Given the description of an element on the screen output the (x, y) to click on. 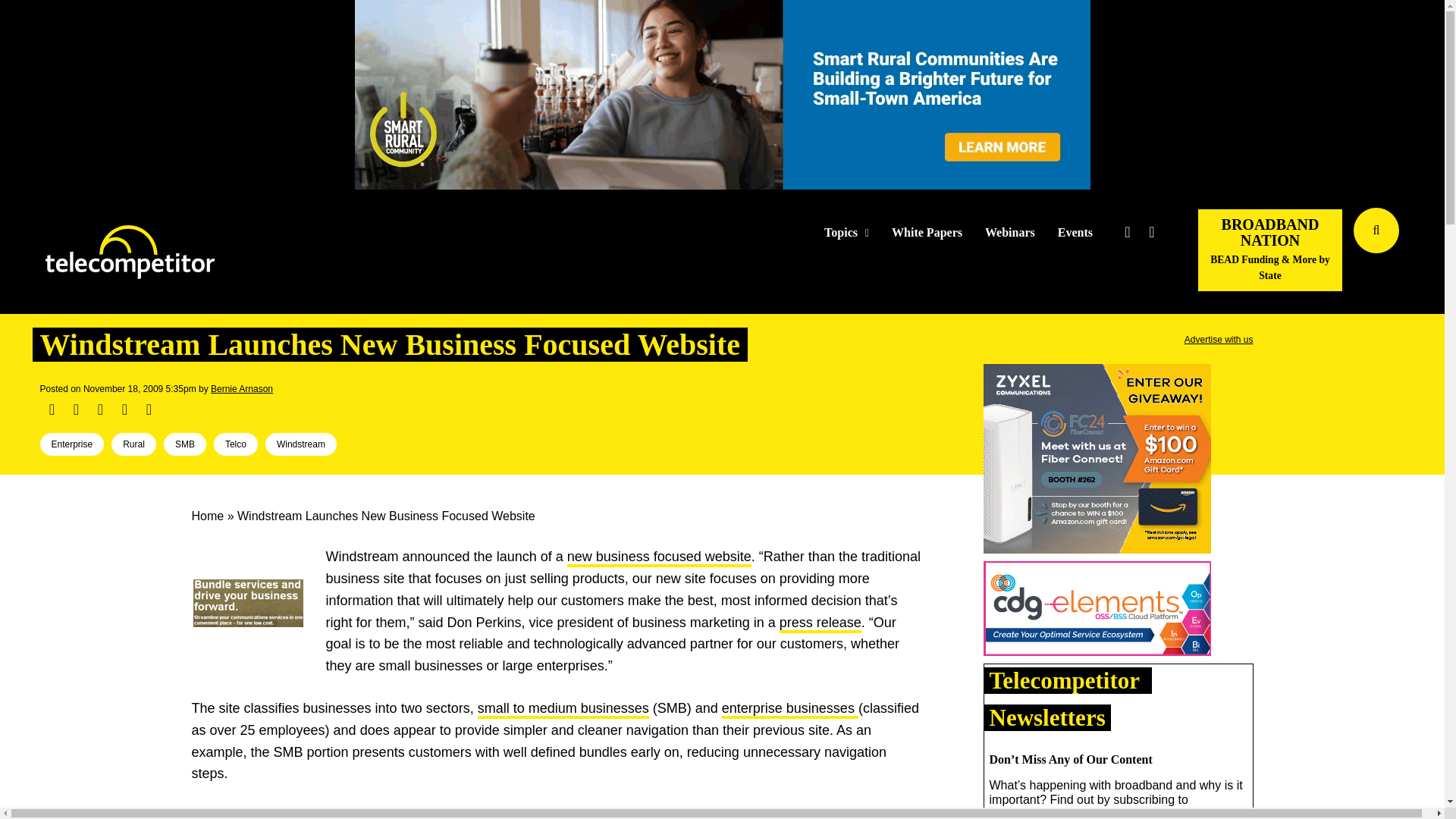
Follow Us on Twitter (1127, 232)
Webinars (1010, 232)
Windstream enterprise business site (790, 710)
Windstream Business (247, 603)
Windstream business services press release (819, 624)
Follow Us on LinkedIN (1151, 232)
Windstream business website (659, 557)
Windstream SMB site (563, 710)
Search (1430, 253)
Topics (846, 232)
Pinterest (124, 409)
Share on Facebook (51, 409)
Search telecompetitor.com (1376, 230)
Share on Linked In (99, 409)
